Given the description of an element on the screen output the (x, y) to click on. 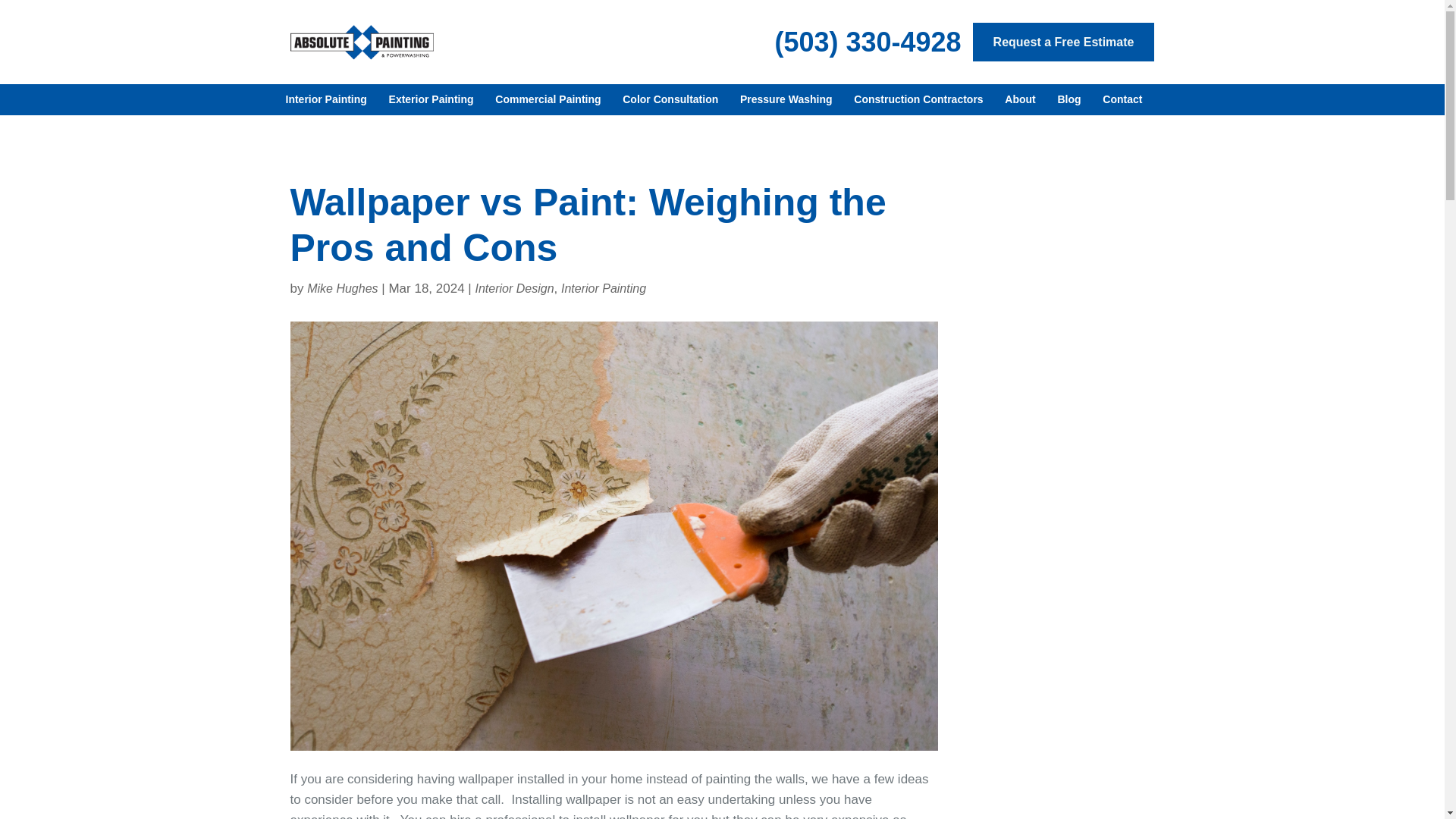
Interior Painting (326, 99)
Mike Hughes (342, 287)
Posts by Mike Hughes (342, 287)
Request a Free Estimate (1063, 41)
Construction Contractors (918, 99)
Blog (1068, 99)
About (1020, 99)
Color Consultation (670, 99)
Pressure Washing (785, 99)
Interior Painting (603, 287)
